Given the description of an element on the screen output the (x, y) to click on. 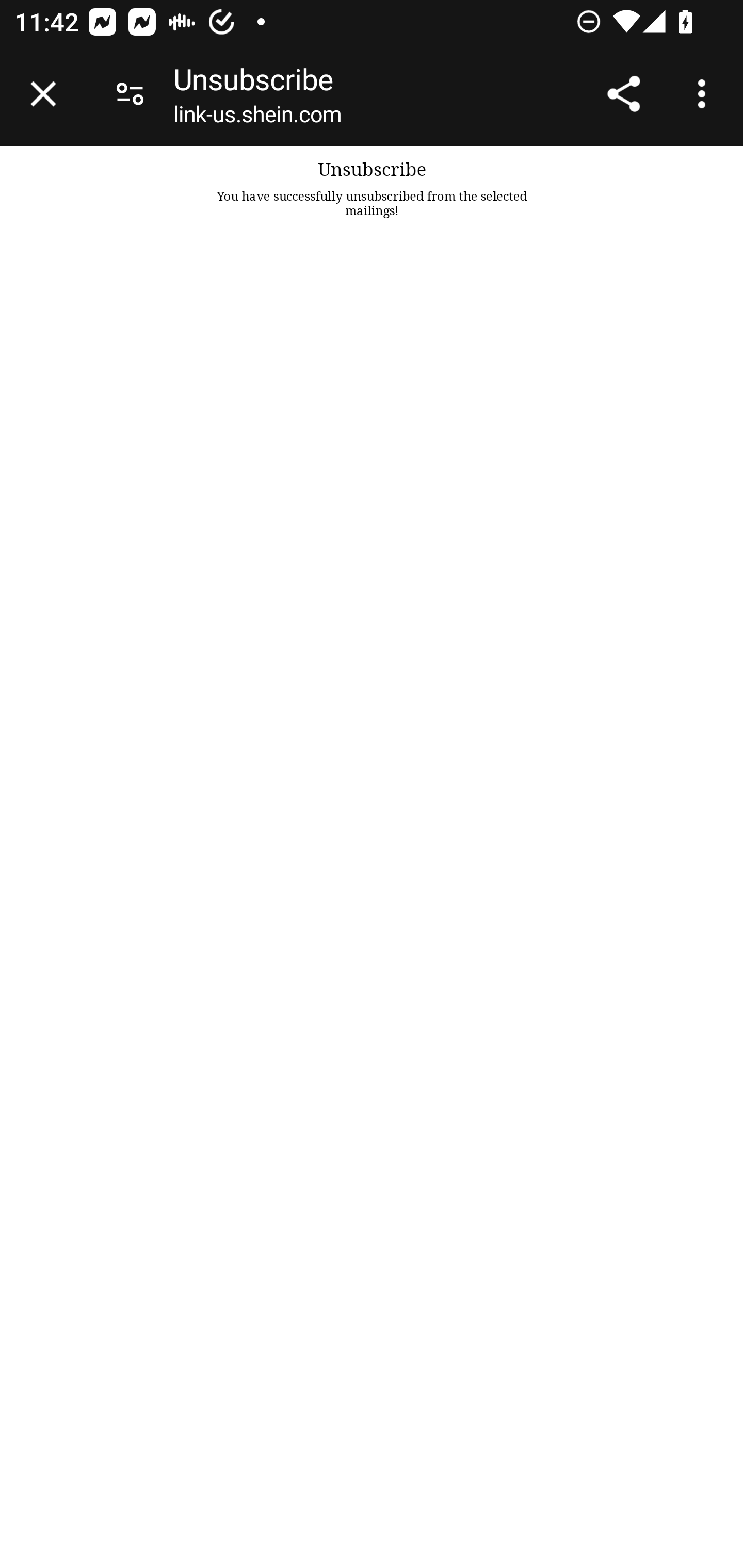
Close tab (43, 93)
Share link address (623, 93)
Customize and control Google Chrome (705, 93)
Connection is secure (129, 93)
link-us.shein.com (257, 117)
